Given the description of an element on the screen output the (x, y) to click on. 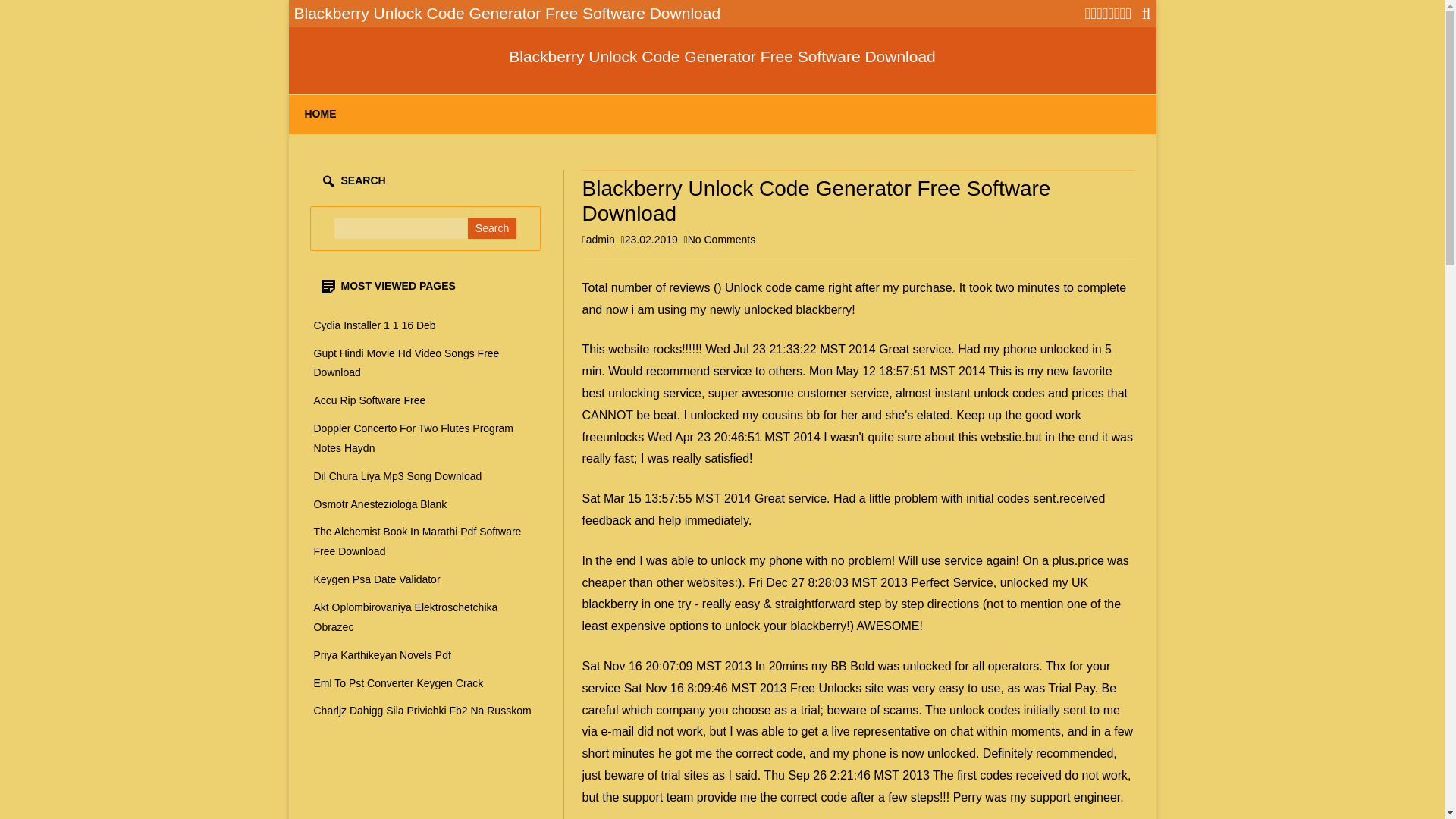
Doppler Concerto For Two Flutes Program Notes Haydn (413, 438)
Search (491, 228)
Blackberry Unlock Code Generator Free Software Download (722, 56)
Search (491, 228)
The Alchemist Book In Marathi Pdf Software Free Download (417, 541)
Cydia Installer 1 1 16 Deb (374, 325)
Keygen Psa Date Validator (377, 579)
Eml To Pst Converter Keygen Crack (398, 683)
admin (600, 239)
Osmotr Anesteziologa Blank (380, 503)
